Given the description of an element on the screen output the (x, y) to click on. 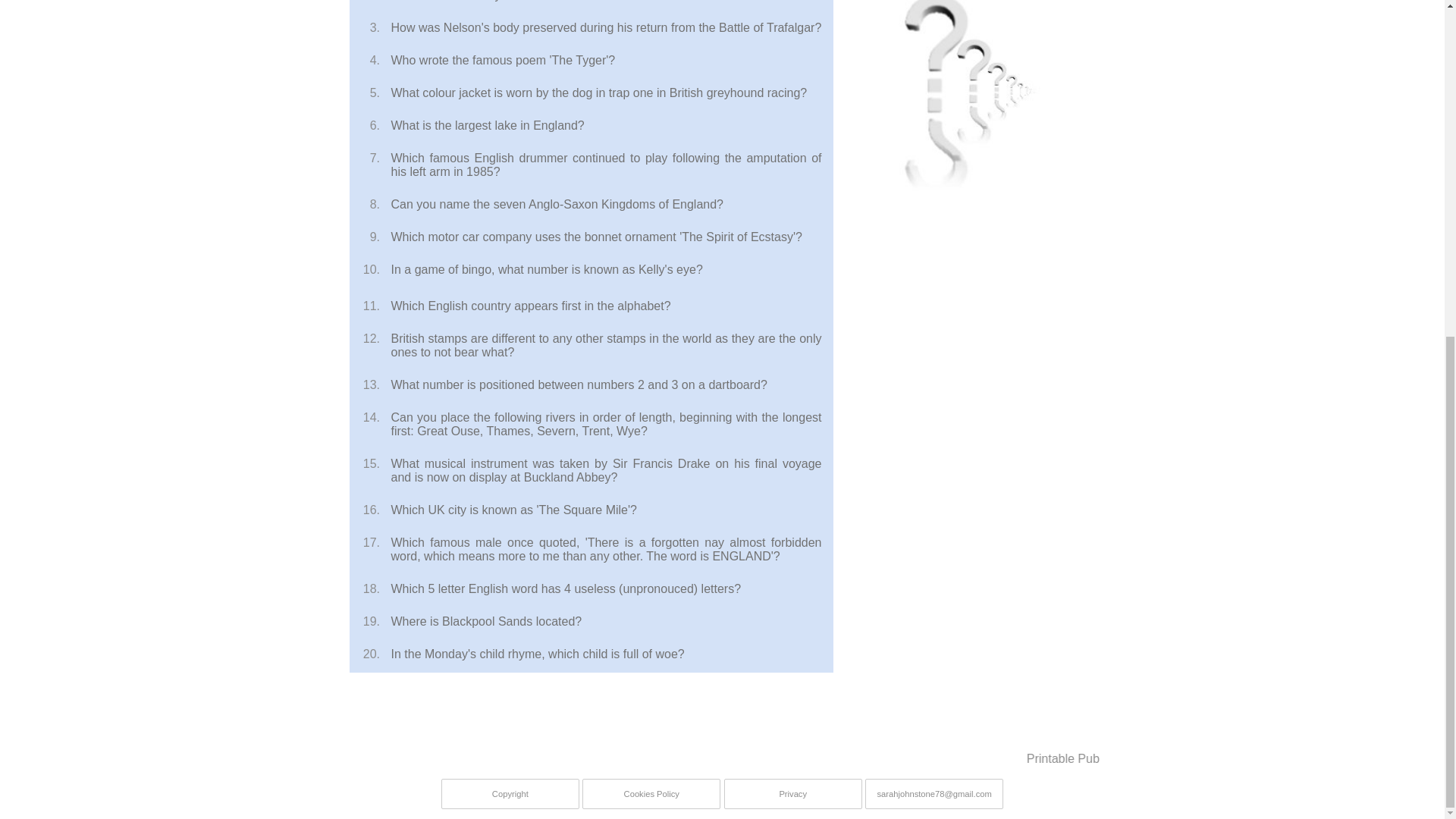
Copyright (510, 793)
Privacy (793, 793)
Cookies Policy (651, 793)
Advertisement (970, 344)
